Given the description of an element on the screen output the (x, y) to click on. 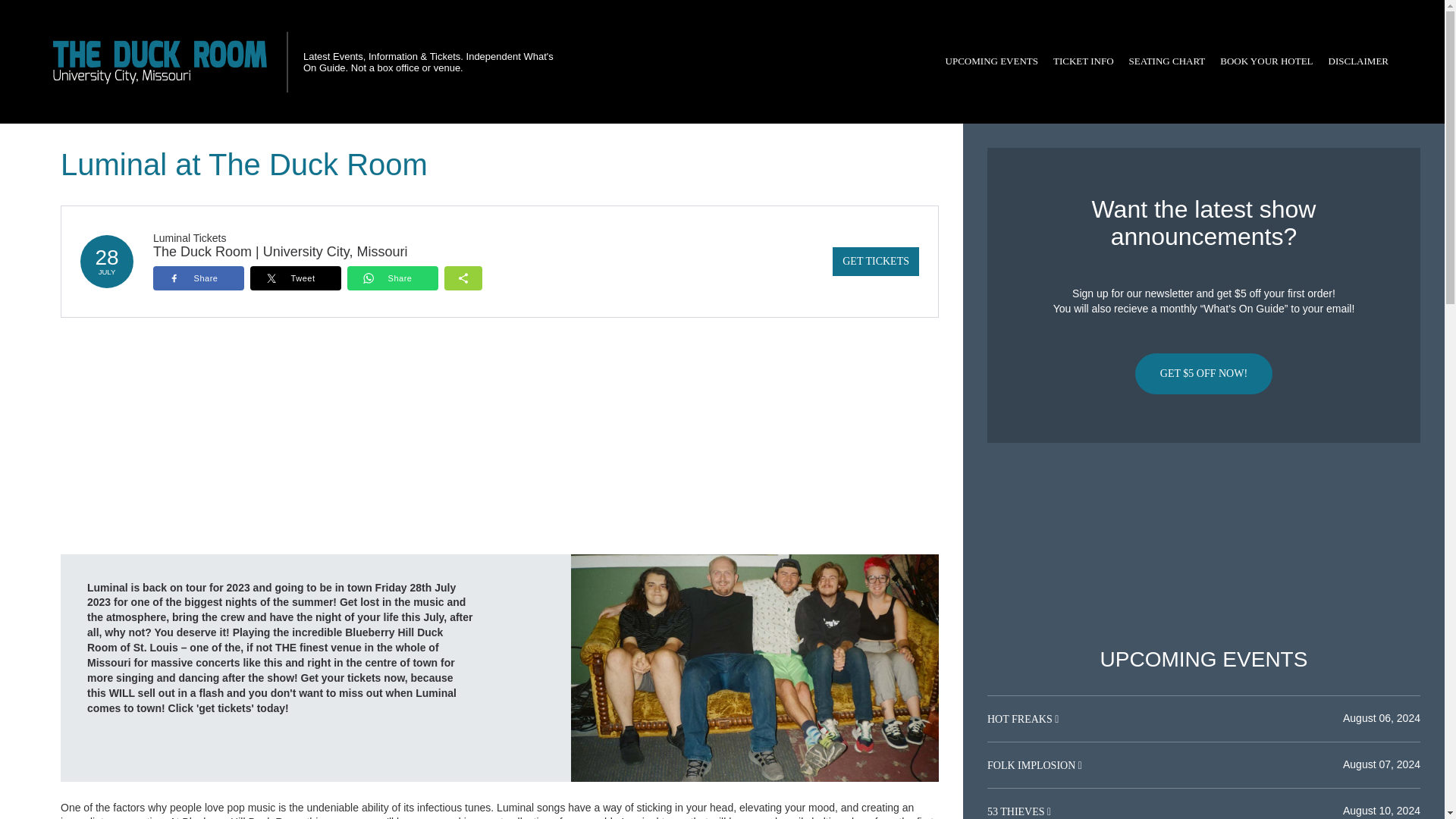
BOOK YOUR HOTEL (1266, 61)
Luminal at The Duck Room (754, 667)
FOLK IMPLOSION (1032, 765)
SEATING CHART (1166, 61)
53 THIEVES (1016, 811)
Advertisement (1204, 545)
Luminal Tickets (188, 237)
TICKET INFO (1083, 61)
GET TICKETS (875, 261)
HOT FREAKS (1020, 718)
DISCLAIMER (1358, 61)
UPCOMING EVENTS (991, 61)
